Given the description of an element on the screen output the (x, y) to click on. 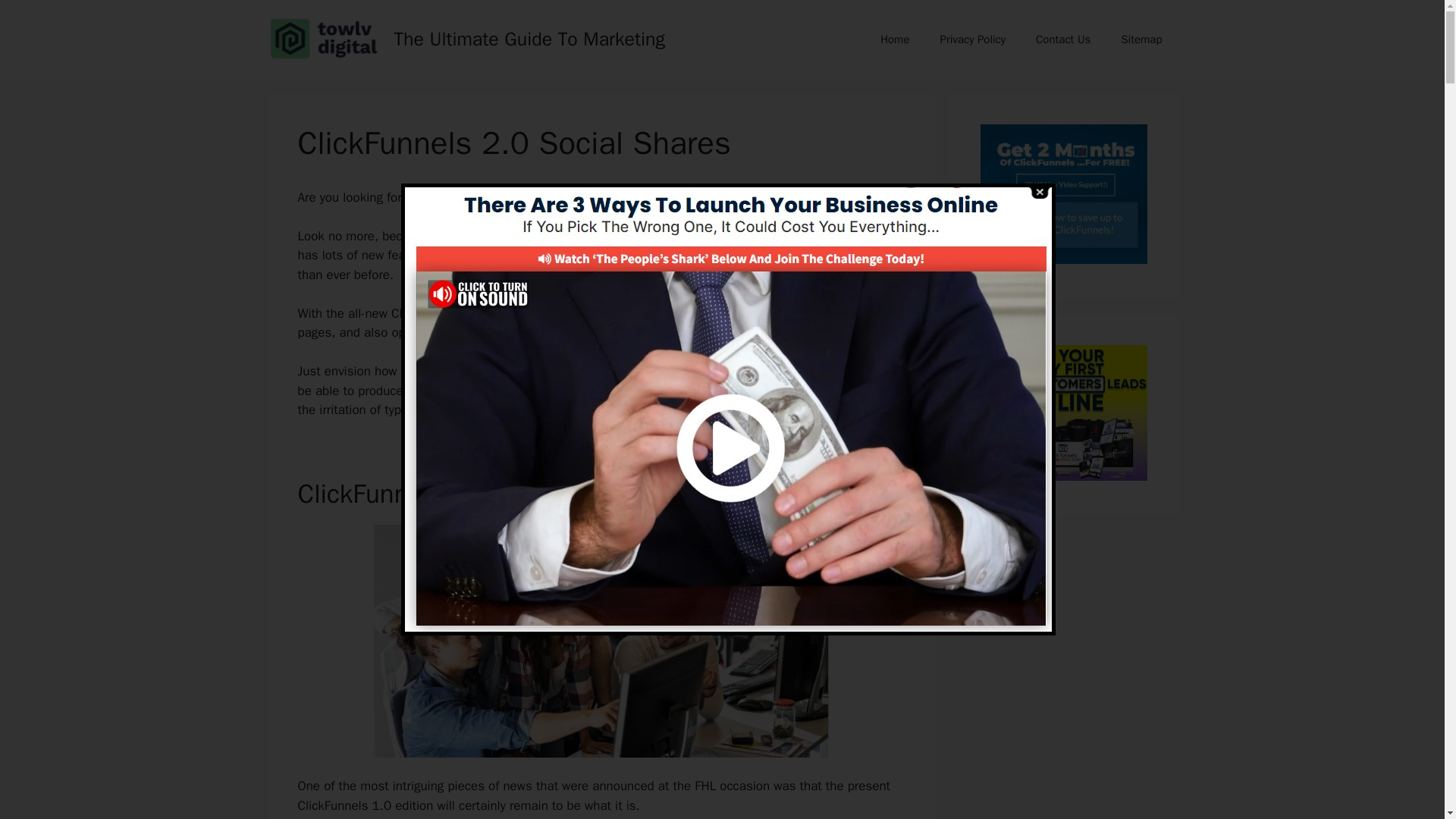
Privacy Policy (972, 39)
Home (894, 39)
Contact Us (1062, 39)
Sitemap (1140, 39)
The Ultimate Guide To Marketing (529, 38)
